Given the description of an element on the screen output the (x, y) to click on. 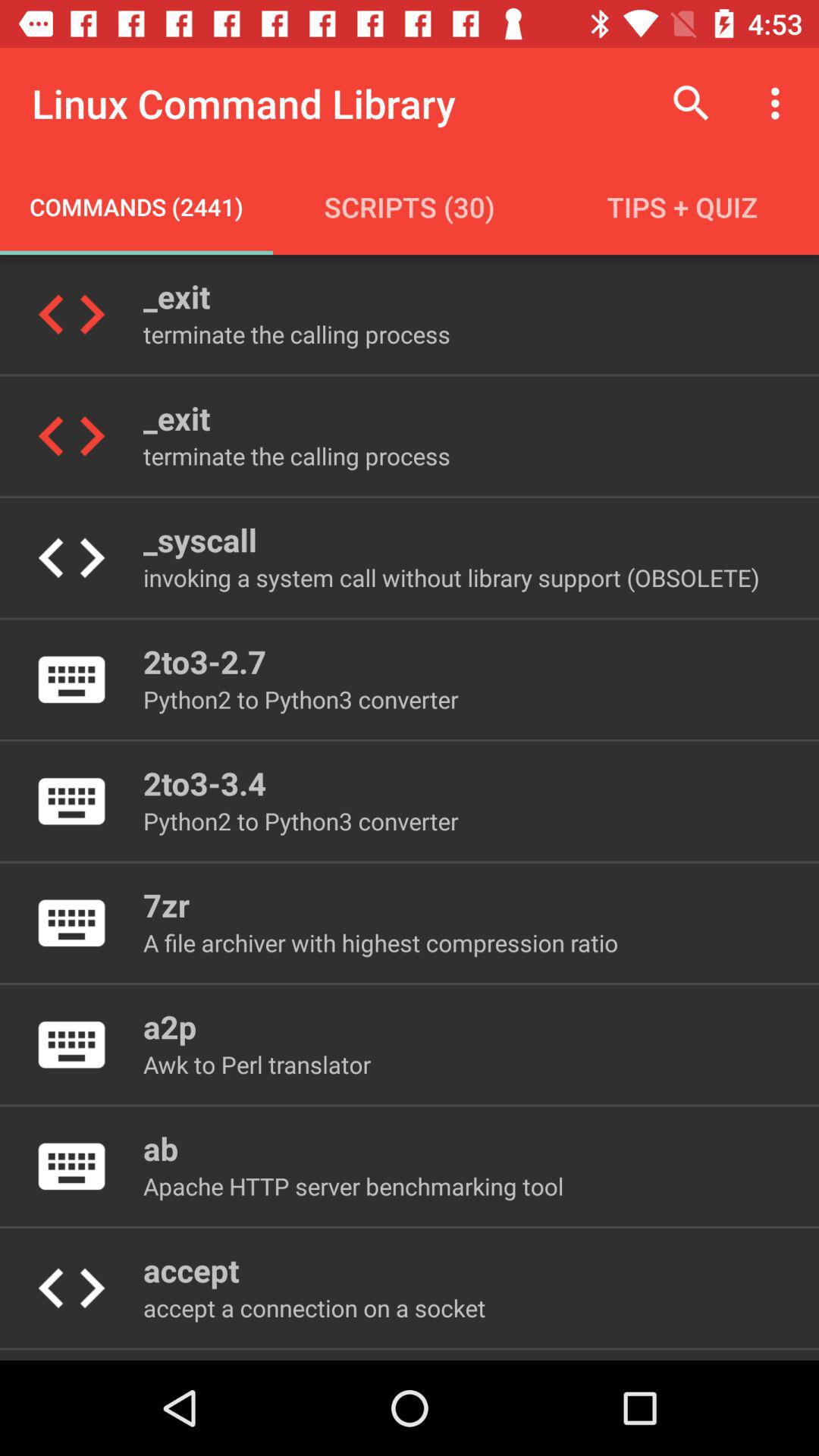
flip until ab icon (160, 1147)
